Given the description of an element on the screen output the (x, y) to click on. 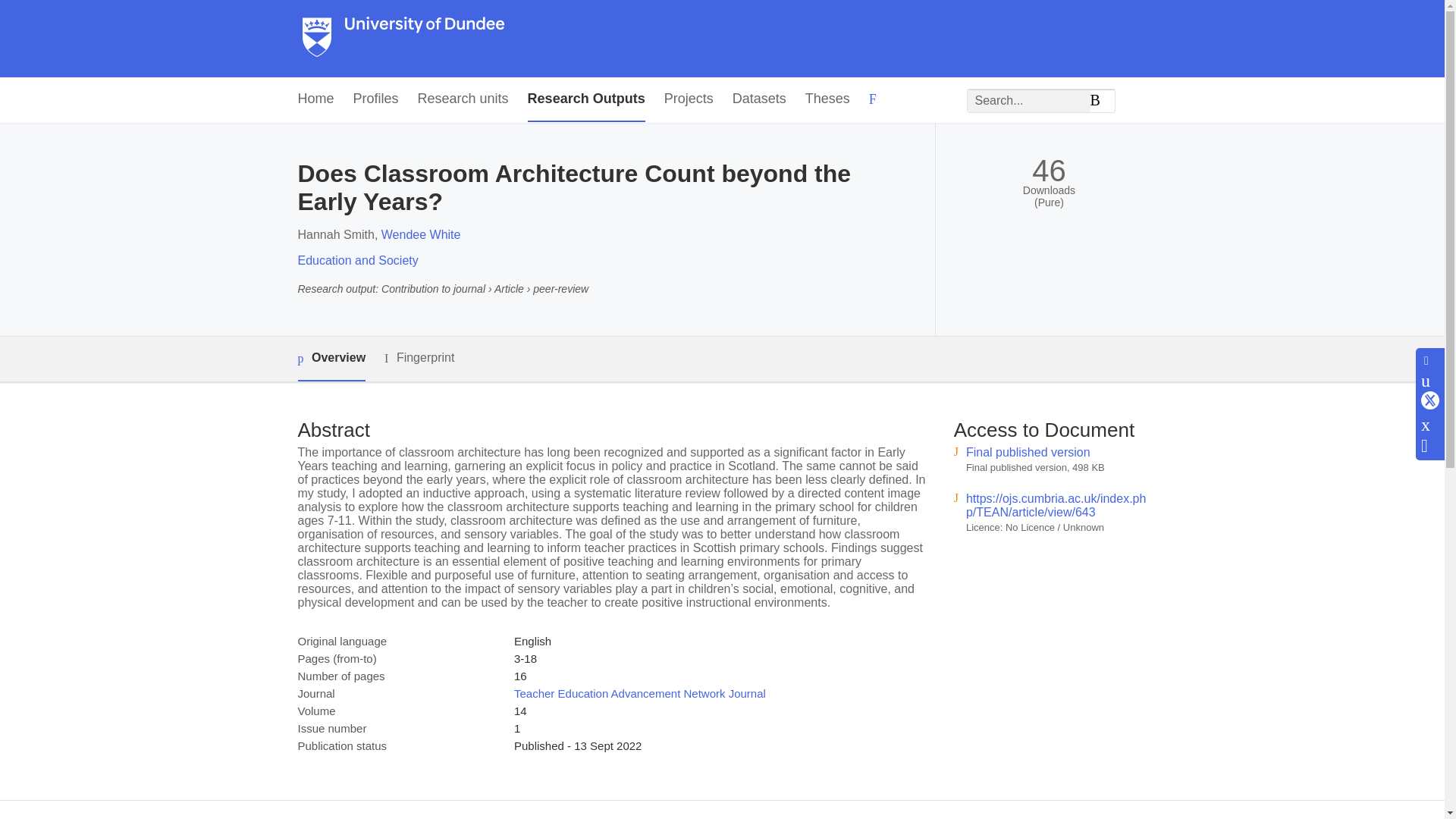
Wendee White (421, 234)
Overview (331, 358)
Theses (827, 99)
Datasets (759, 99)
Projects (688, 99)
Research units (462, 99)
Home (315, 99)
Final published version (1028, 451)
Fingerprint (419, 358)
Teacher Education Advancement Network Journal (639, 693)
Discovery - the University of Dundee Research Portal Home (404, 38)
Research Outputs (586, 99)
Education and Society (357, 259)
Profiles (375, 99)
